Given the description of an element on the screen output the (x, y) to click on. 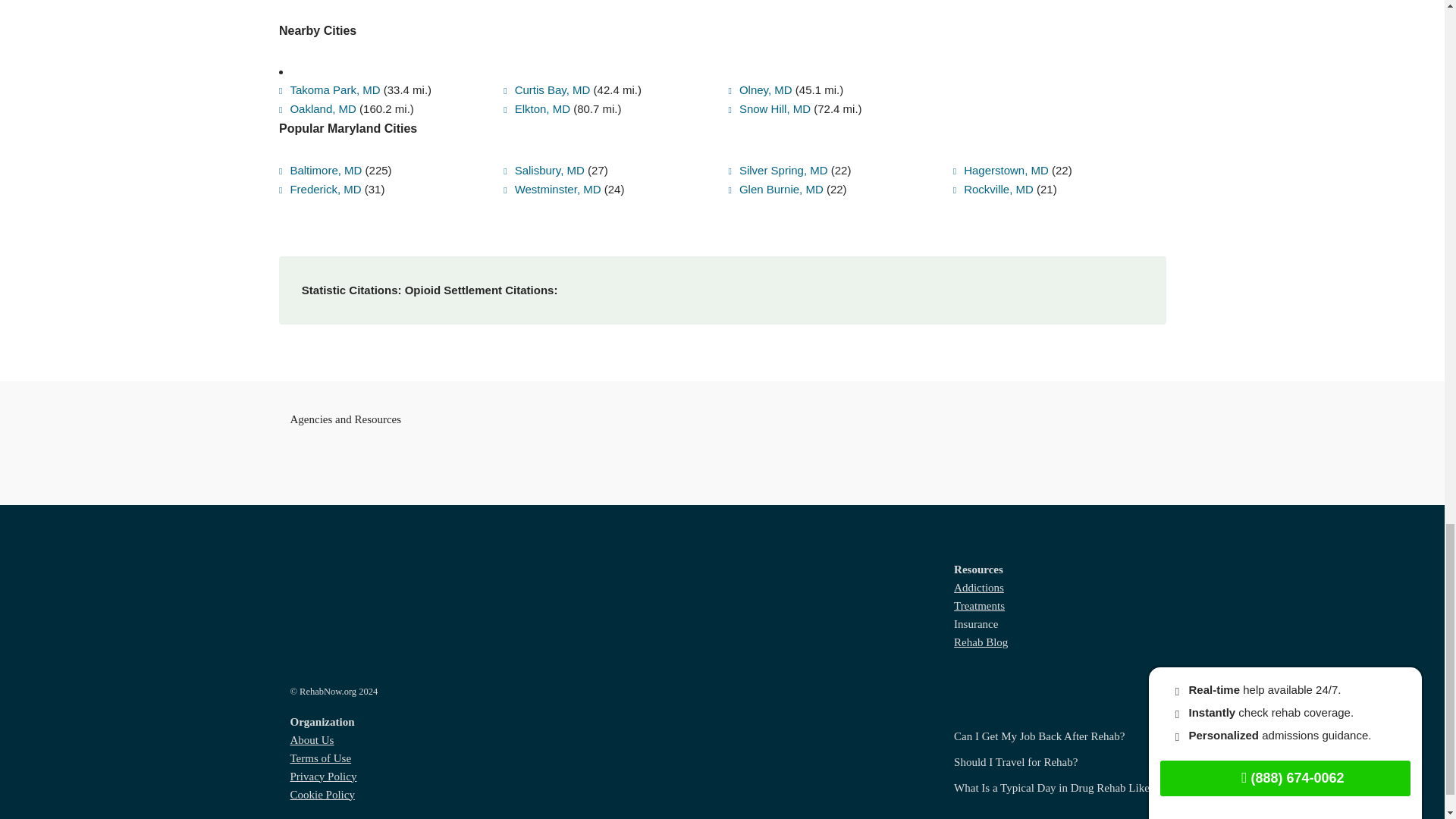
Elkton, Maryland Drug Rehab Centers (536, 71)
Instagram (1143, 798)
X (1085, 798)
Drug and Alcohol Rehab Near You in Curtis Bay, Maryland (546, 51)
Youtube (1114, 798)
Facebook (1056, 798)
Get Treatment Options in Olney, Maryland (760, 51)
Local and Nearby Rehab Listings for Oakland, MD (317, 71)
